Given the description of an element on the screen output the (x, y) to click on. 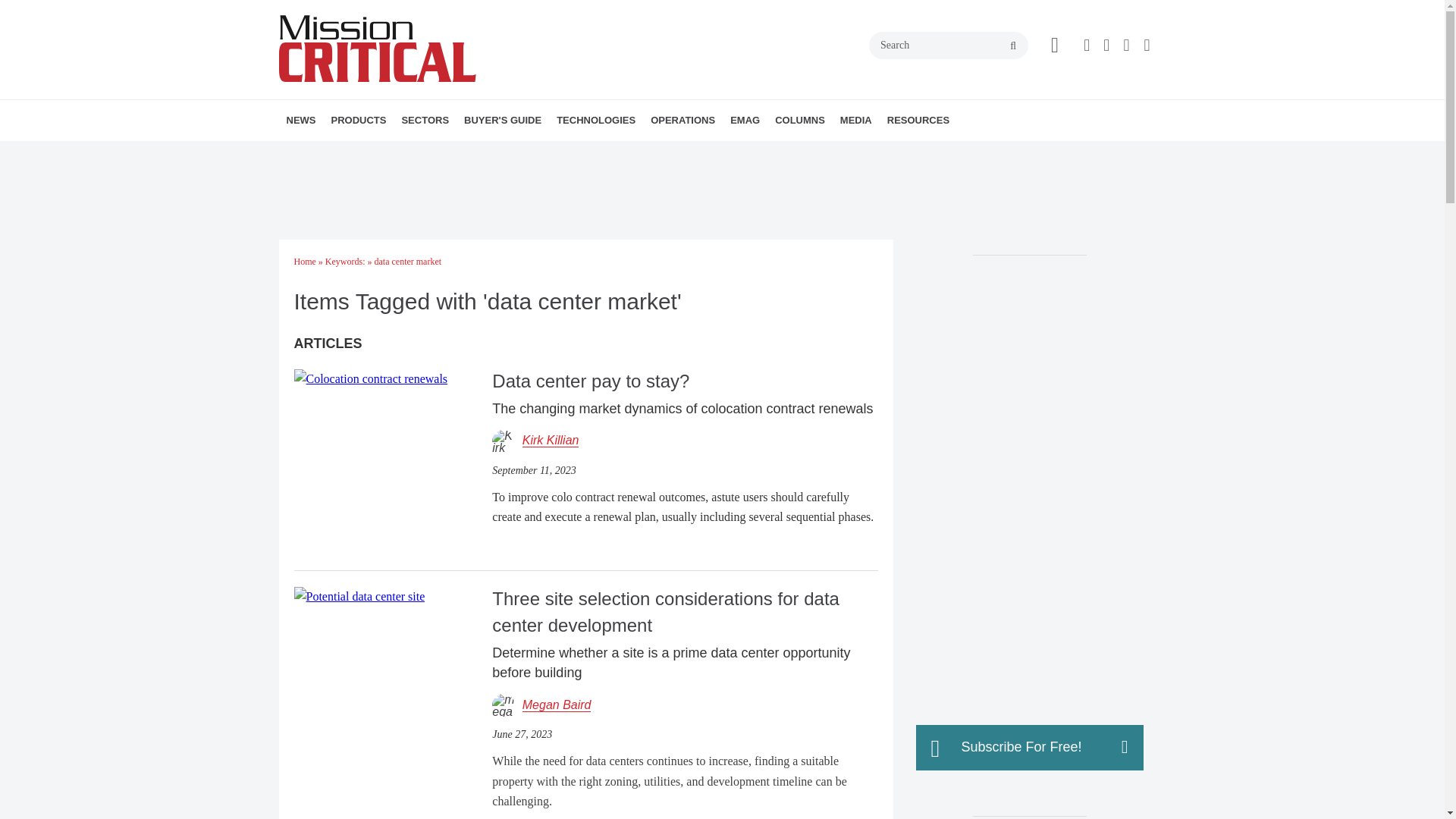
Search (948, 44)
5G (650, 153)
NEWS (301, 119)
Potential data center site (359, 596)
Data center pay to stay? (371, 377)
INFRASTRUCTURE (643, 153)
CYBERSECURITY (662, 153)
OPERATIONS (682, 119)
search (1013, 46)
